Given the description of an element on the screen output the (x, y) to click on. 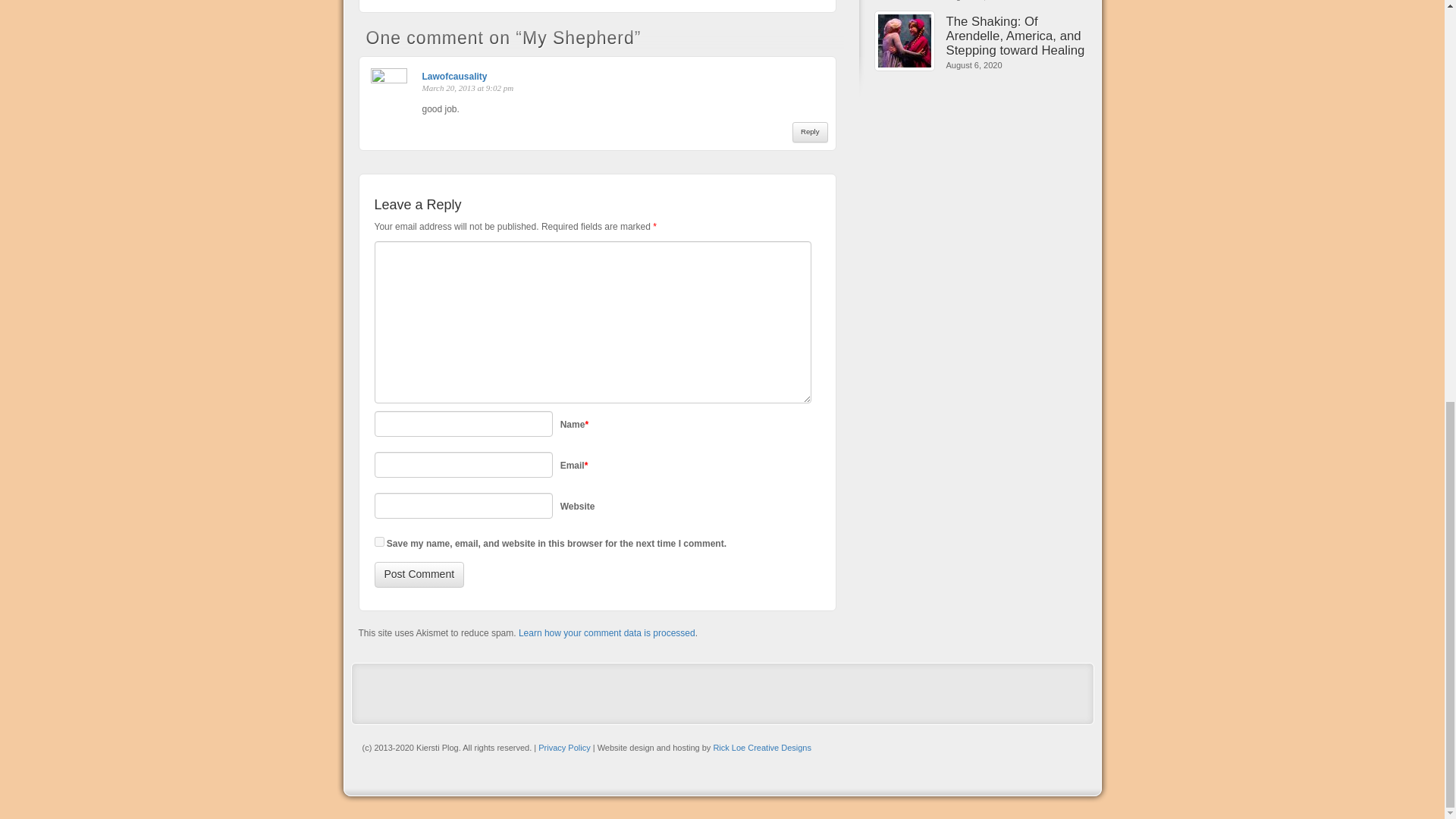
Privacy Policy (563, 747)
Learn how your comment data is processed (606, 633)
March 20, 2013 at 9:02 pm (467, 87)
yes (379, 542)
Post Comment (419, 574)
Post Comment (419, 574)
Lawofcausality (454, 76)
Reply (810, 131)
Rick Loe Creative Designs (761, 747)
